Given the description of an element on the screen output the (x, y) to click on. 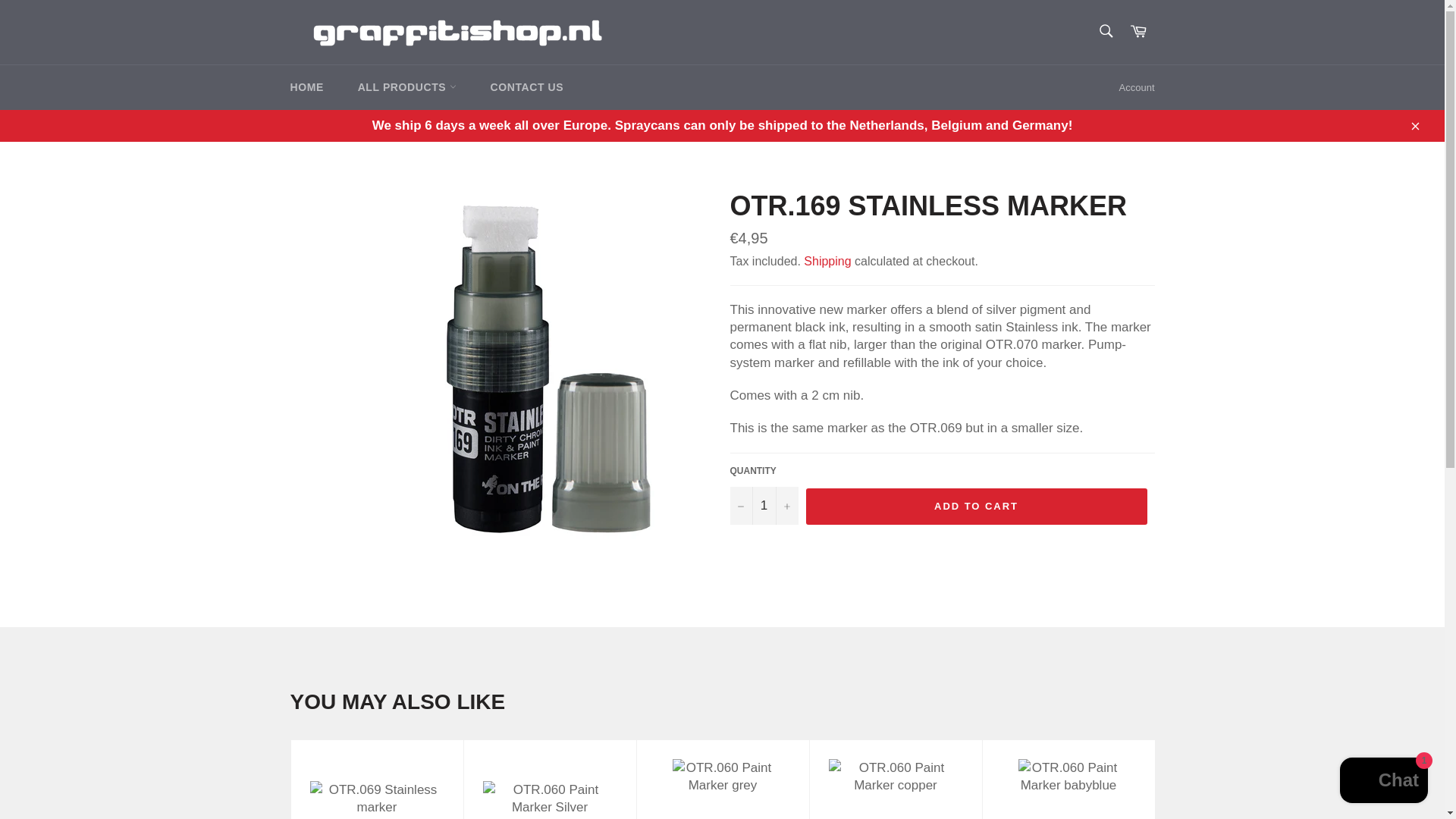
Cart (1138, 32)
Close (1414, 124)
Search (1104, 30)
1 (763, 505)
Account (1136, 87)
CONTACT US (526, 87)
HOME (306, 87)
Shopify online store chat (1383, 781)
Shipping (826, 260)
ALL PRODUCTS (406, 87)
